Given the description of an element on the screen output the (x, y) to click on. 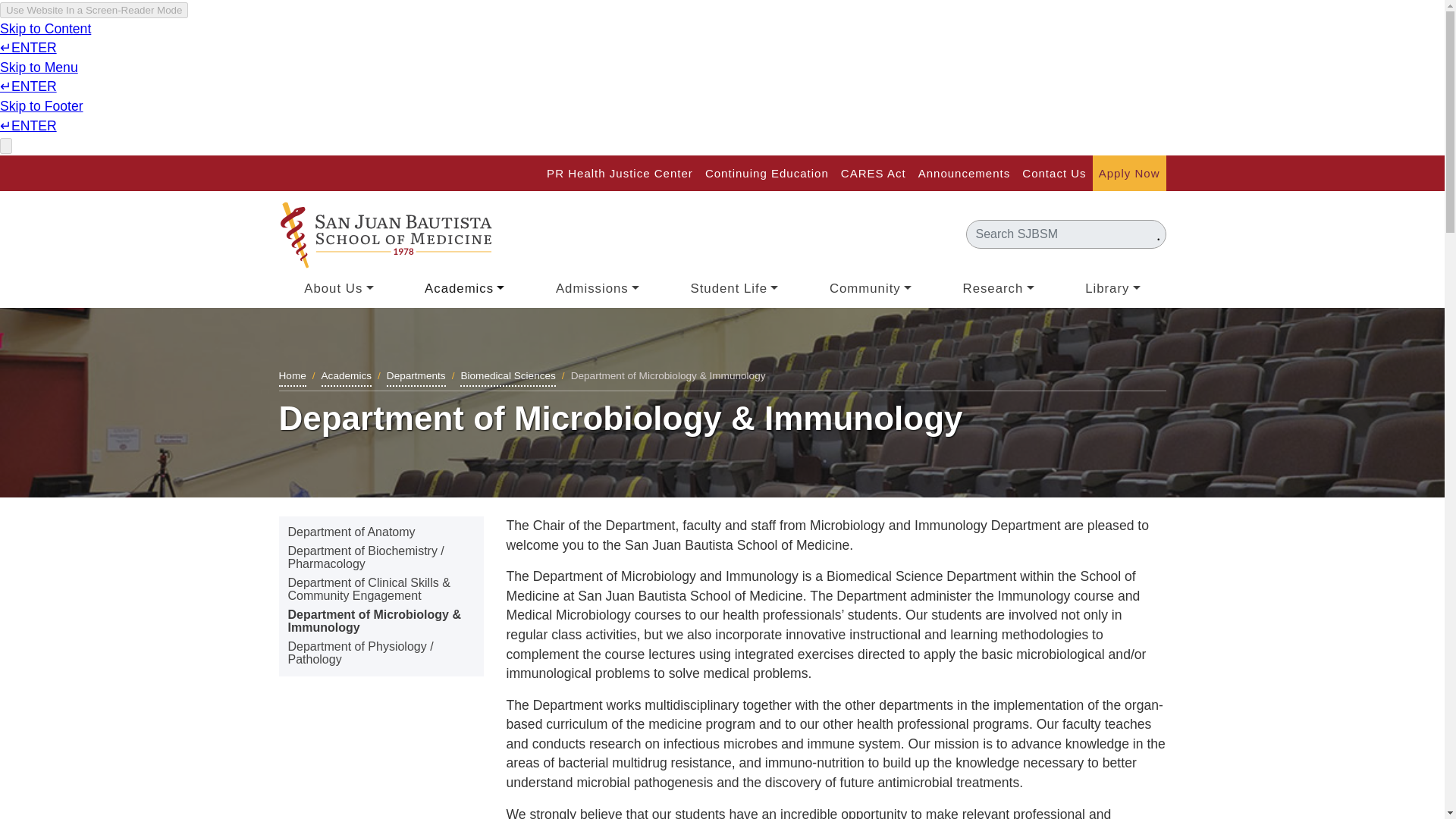
Contact Us (1054, 174)
About Us (338, 289)
Continuing Education (766, 174)
Announcements (964, 174)
Apply Now (1129, 174)
PR Health Justice Center (620, 174)
CARES Act (873, 174)
Academics (465, 289)
